Given the description of an element on the screen output the (x, y) to click on. 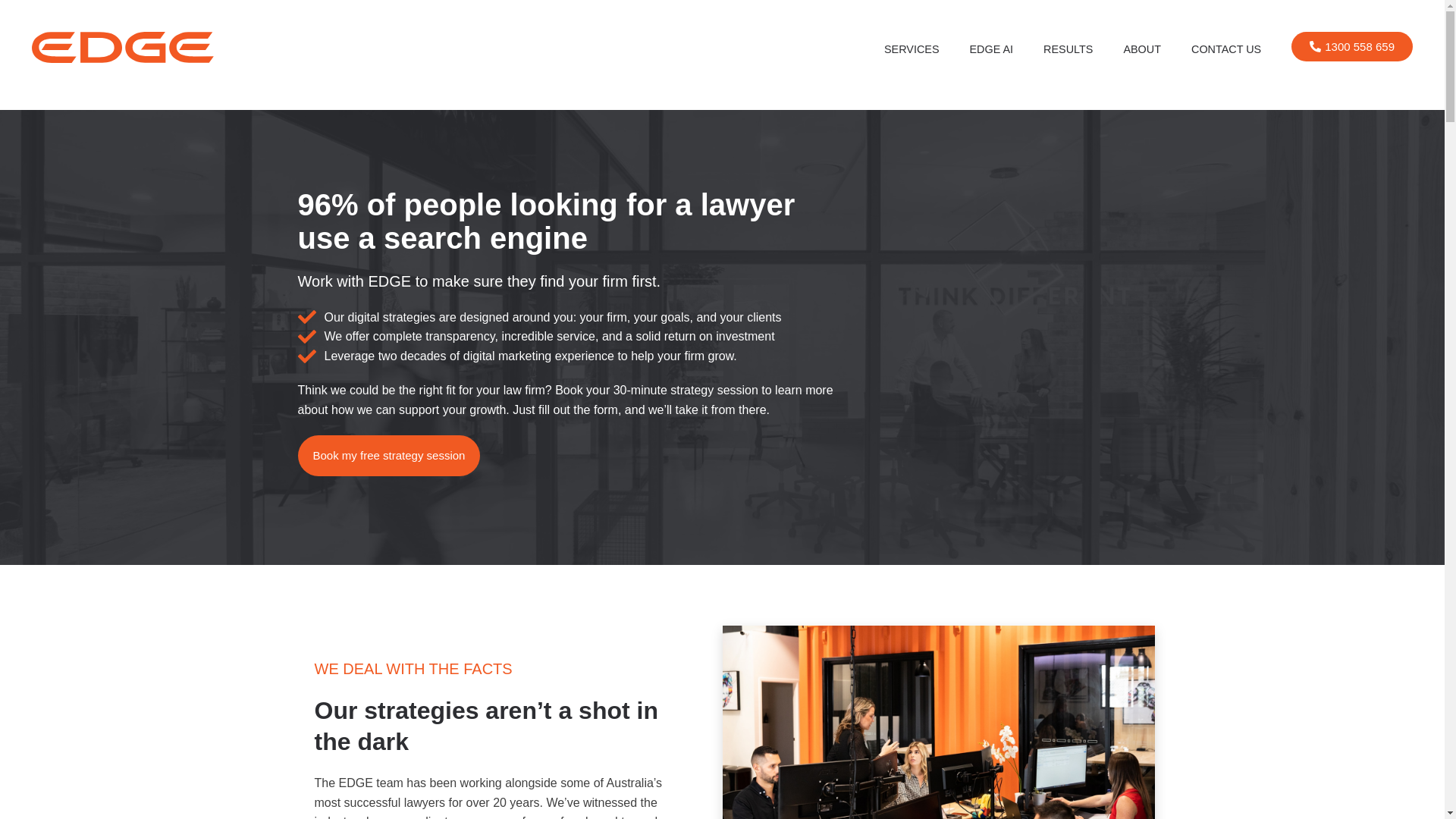
RESULTS Element type: text (1067, 48)
SERVICES Element type: text (911, 48)
1300 558 659 Element type: text (1351, 46)
Book my free strategy session Element type: text (388, 455)
ABOUT Element type: text (1141, 48)
CONTACT US Element type: text (1226, 48)
EDGE AI Element type: text (991, 48)
